Given the description of an element on the screen output the (x, y) to click on. 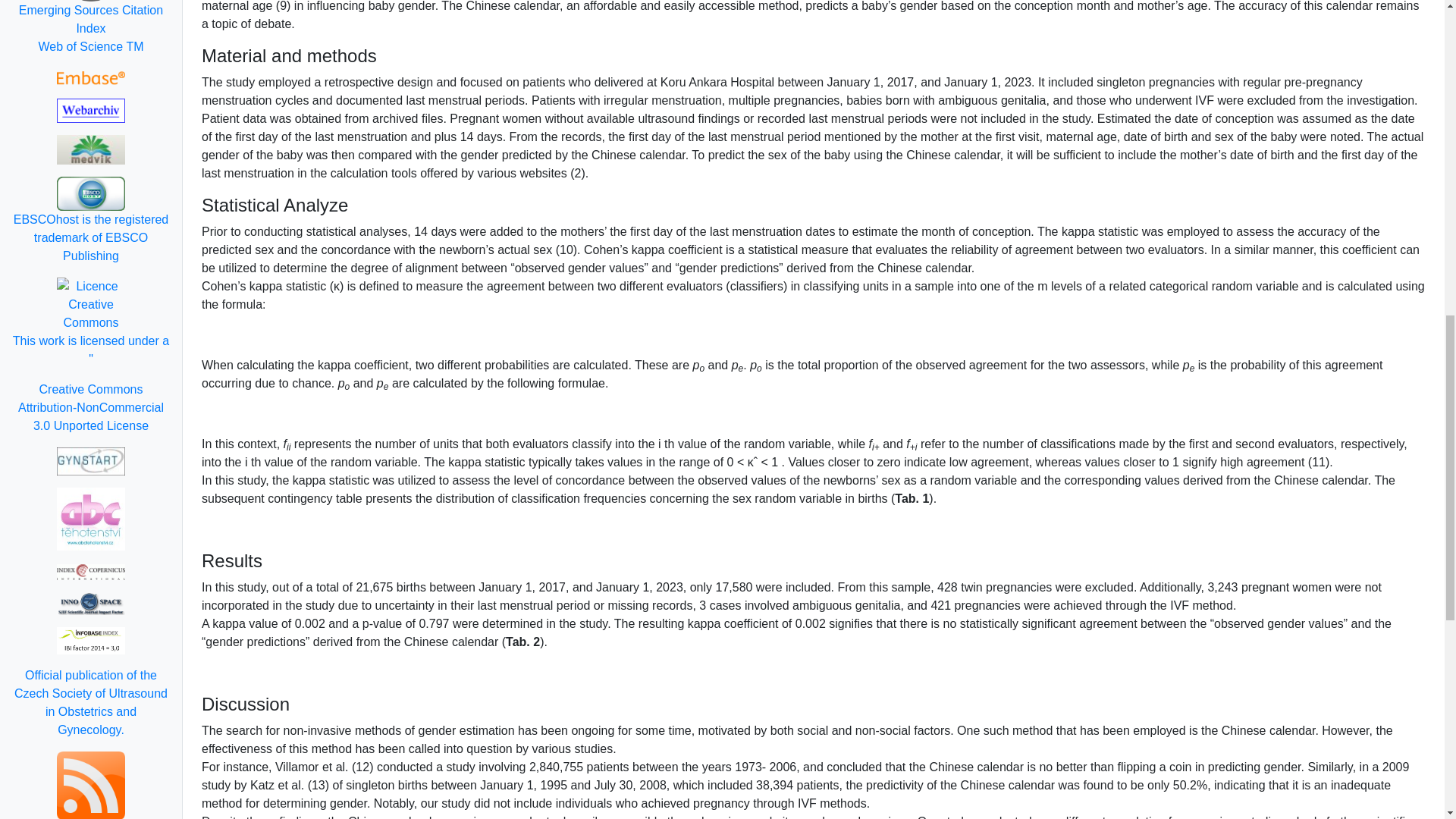
Medvik (90, 149)
RSS feed (90, 785)
embase.com (90, 76)
ABCtehotenstvi (90, 518)
Gynstart (90, 461)
EBSCOhost (90, 220)
Index Copernicus (90, 571)
